Given the description of an element on the screen output the (x, y) to click on. 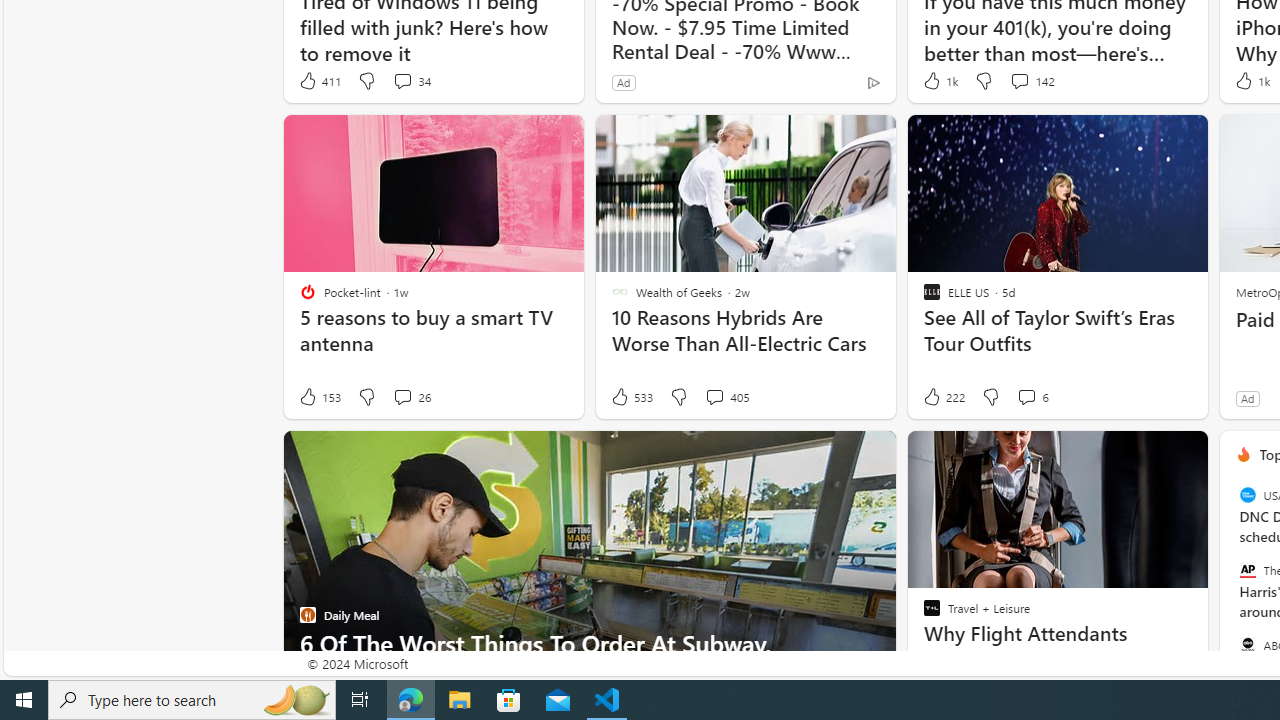
View comments 26 Comment (402, 396)
previous (1229, 583)
The Associated Press (1247, 570)
View comments 142 Comment (1019, 80)
View comments 405 Comment (714, 396)
222 Like (942, 397)
View comments 405 Comment (726, 397)
Ad (1247, 398)
View comments 34 Comment (411, 80)
